Given the description of an element on the screen output the (x, y) to click on. 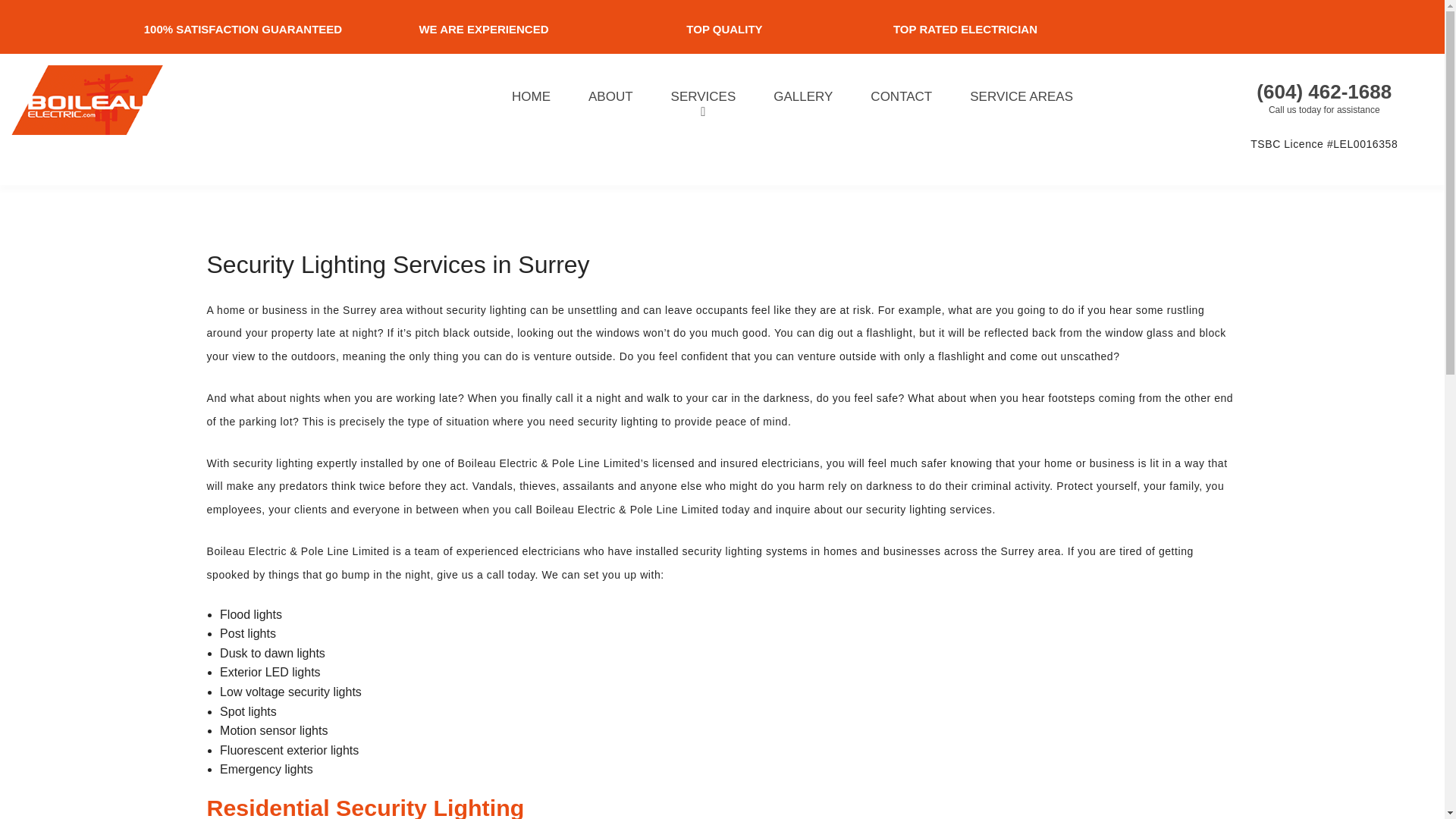
CONTACT (901, 96)
GALLERY (802, 96)
SERVICES (703, 96)
HOME (531, 96)
SERVICE AREAS (1021, 96)
ABOUT (610, 96)
Connect with Facebook (1313, 16)
Find us on Google Maps (1333, 16)
